Given the description of an element on the screen output the (x, y) to click on. 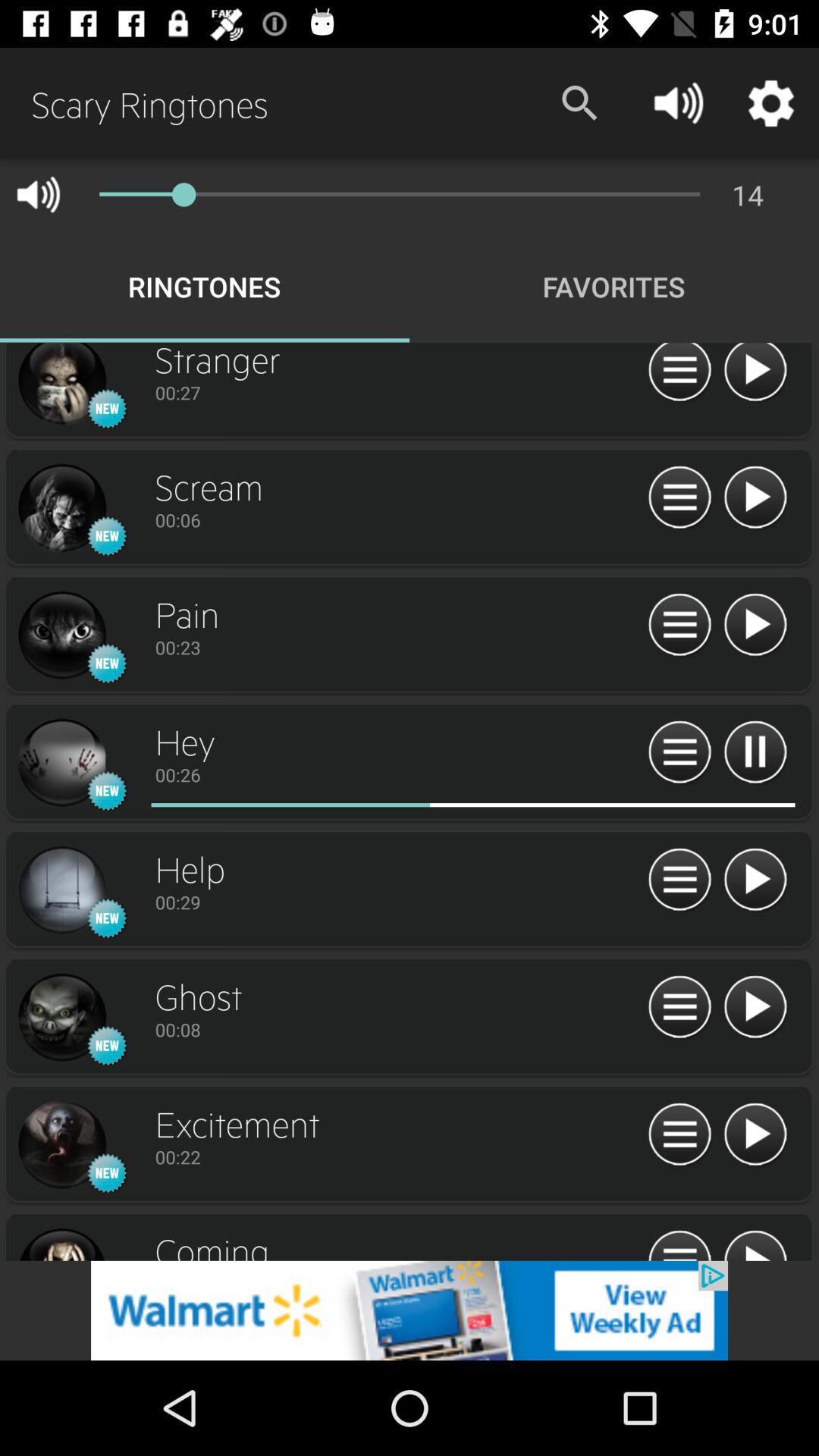
more options (679, 498)
